Given the description of an element on the screen output the (x, y) to click on. 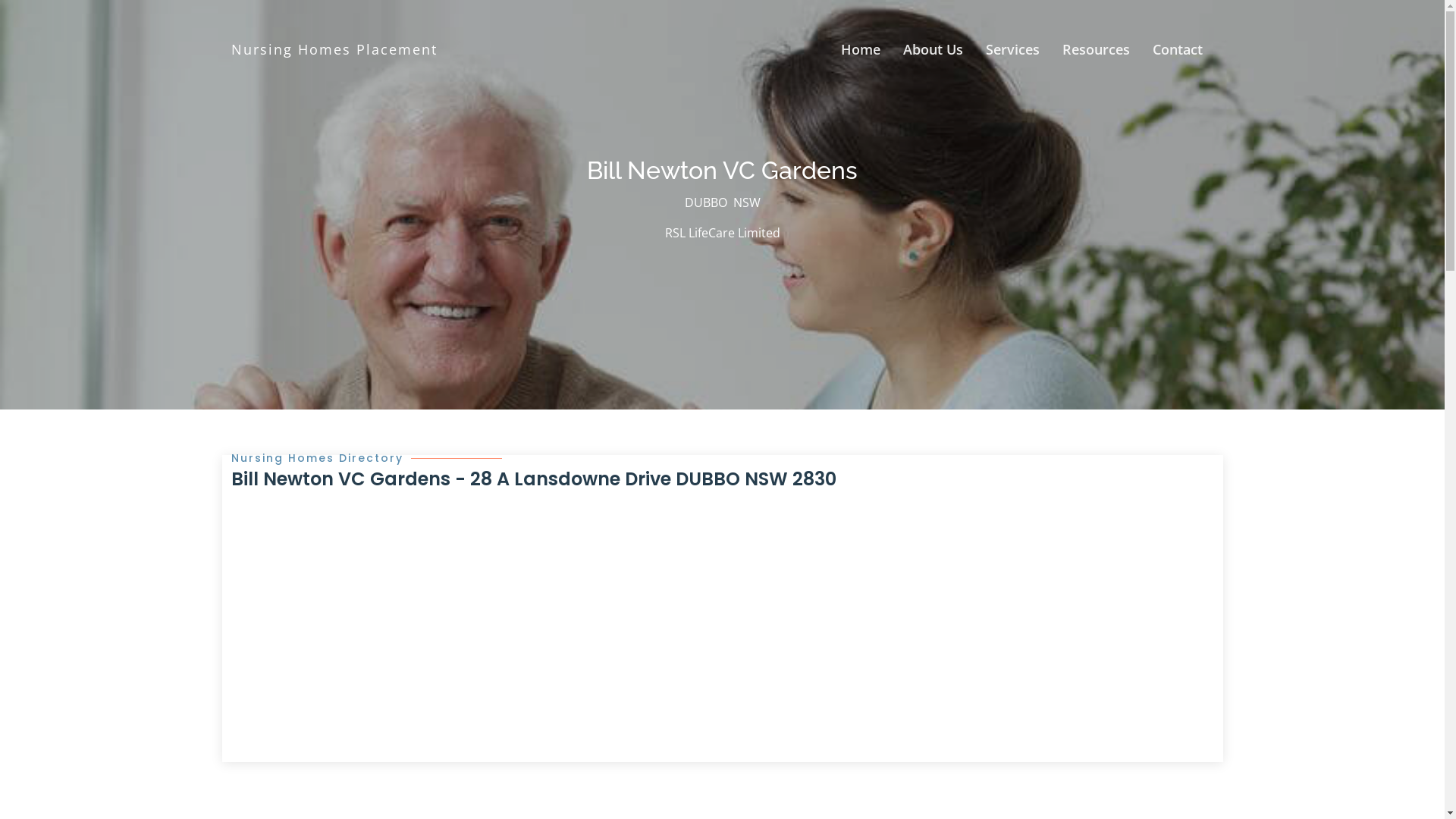
Contact Element type: text (1176, 49)
Nursing Homes Placement Element type: text (333, 49)
Advertisement Element type: hover (721, 606)
Resources Element type: text (1096, 49)
Home Element type: text (860, 49)
Services Element type: text (1011, 49)
About Us Element type: text (932, 49)
